Given the description of an element on the screen output the (x, y) to click on. 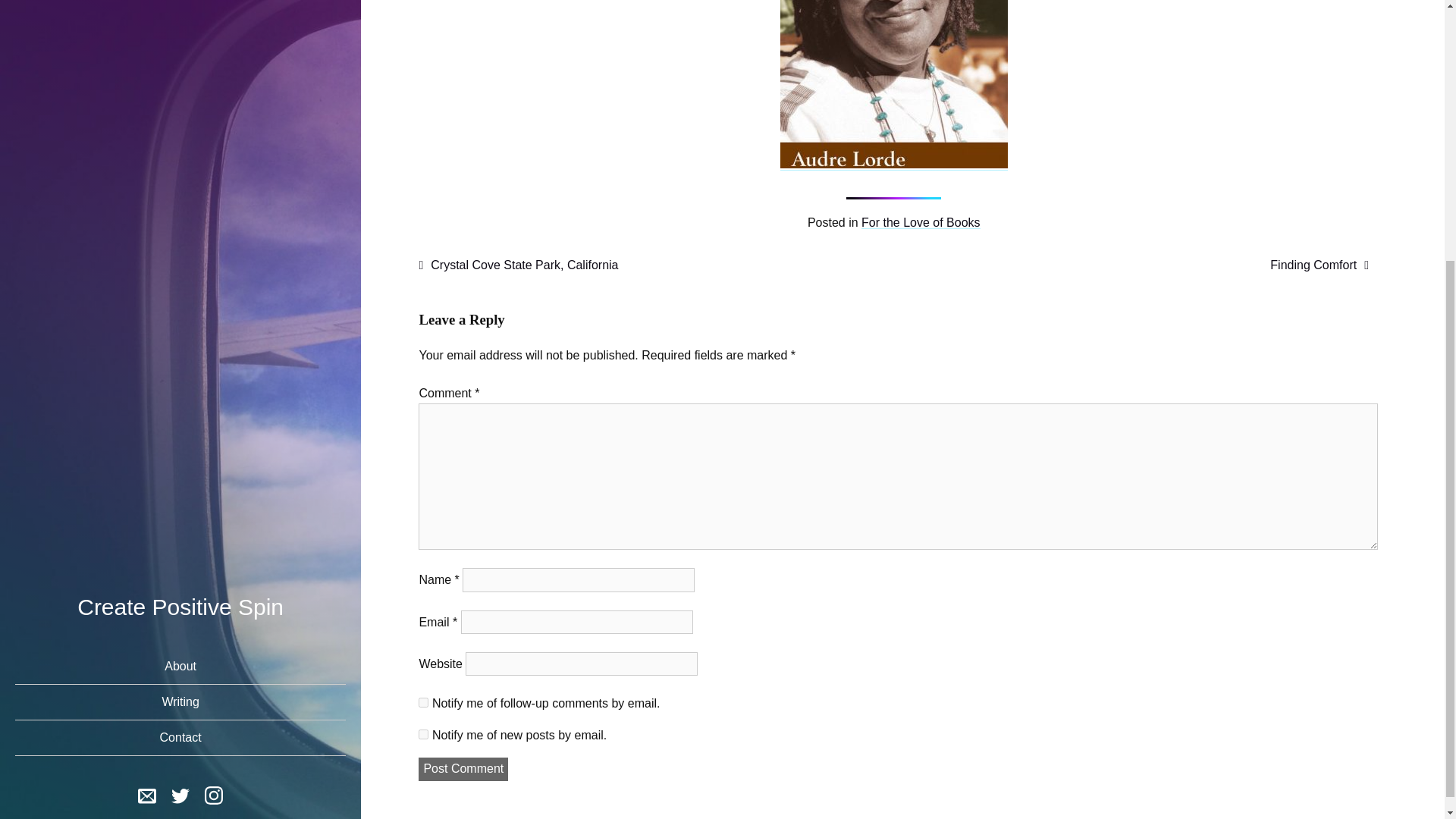
subscribe (423, 702)
Writing (180, 319)
For the Love of Books (920, 222)
Contact (180, 355)
Post Comment (463, 769)
twitter (180, 416)
twitter (180, 412)
Post Comment (463, 769)
Create Positive Spin (180, 224)
subscribe (423, 734)
About (180, 284)
Finding Comfort (1318, 264)
Crystal Cove State Park, California (518, 264)
instagram (213, 412)
instagram (213, 416)
